Given the description of an element on the screen output the (x, y) to click on. 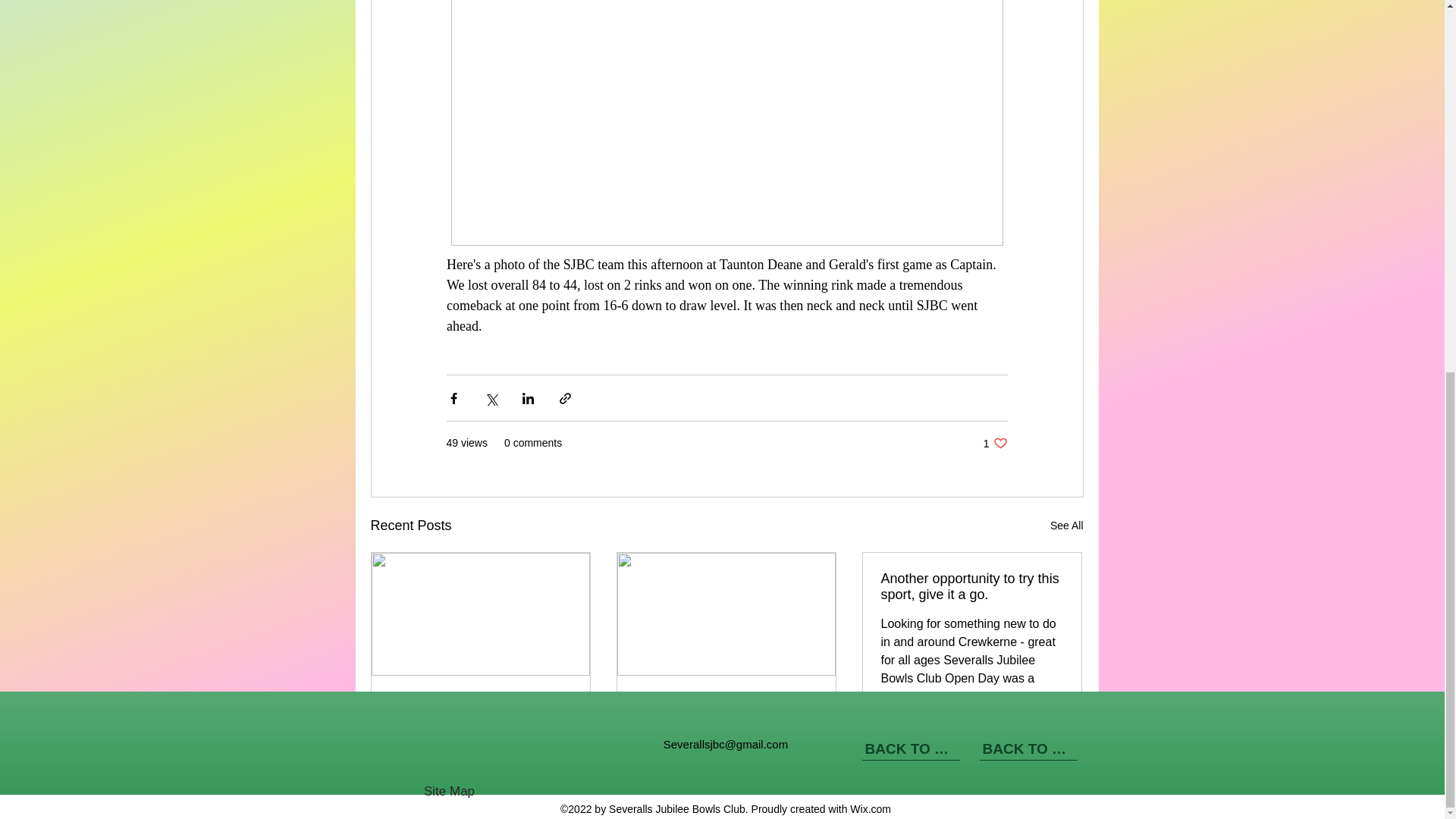
0 (445, 762)
0 (936, 778)
Post not marked as liked (1055, 779)
Another opportunity to try this sport, give it a go. (971, 586)
The Invitation Triples At Severalls Jubilee Bowls Club. (481, 709)
Australian Pairs (725, 701)
See All (995, 442)
0 (1066, 526)
Site Map (690, 762)
